Given the description of an element on the screen output the (x, y) to click on. 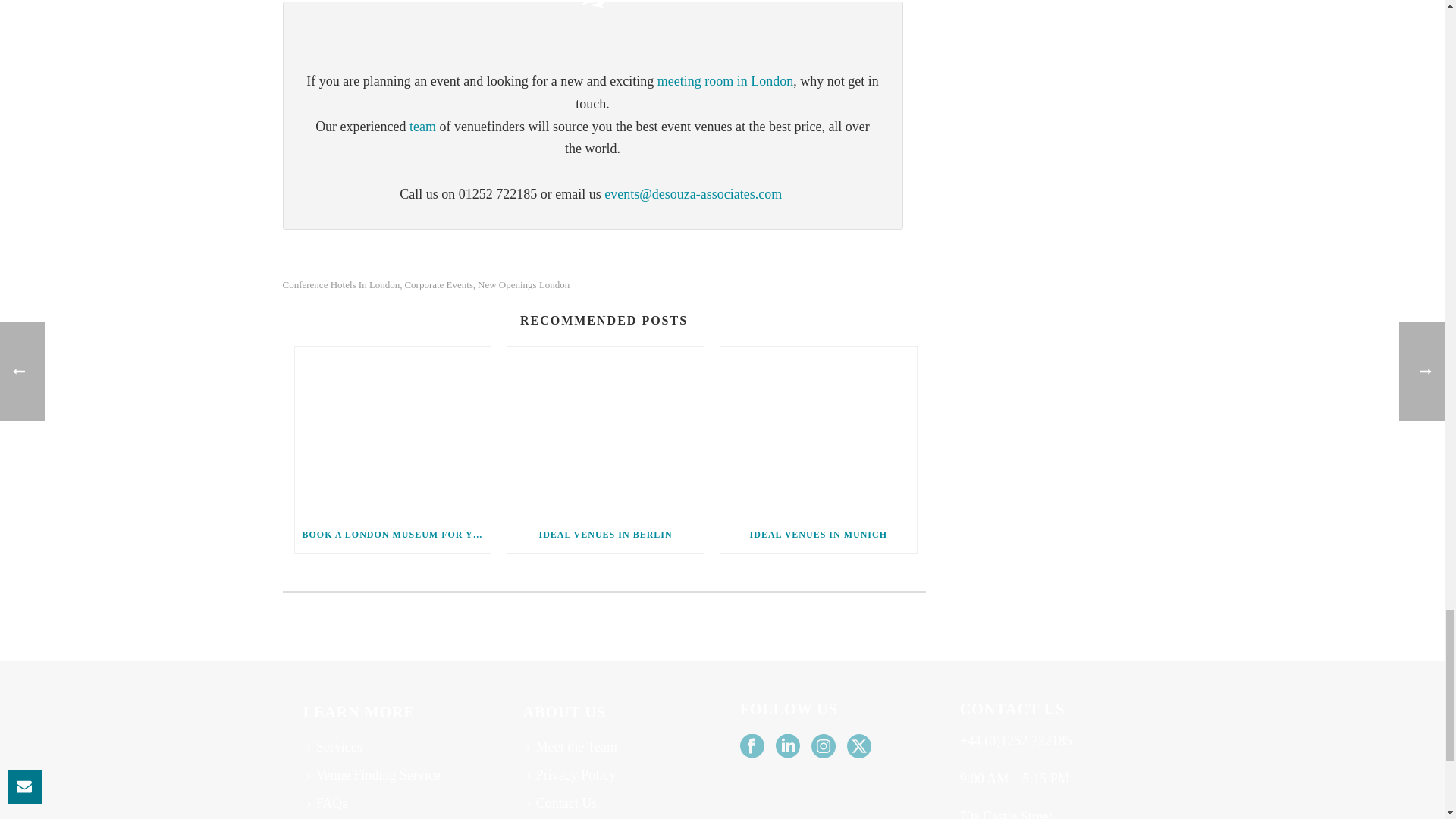
Follow Us twitter (858, 746)
Follow Us linkedin (787, 746)
Follow Us facebook (751, 746)
Ideal Venues in Berlin (604, 431)
Book a London Museum for your next event (392, 431)
Ideal Venues in Munich (818, 431)
Follow Us instagram (822, 746)
